Given the description of an element on the screen output the (x, y) to click on. 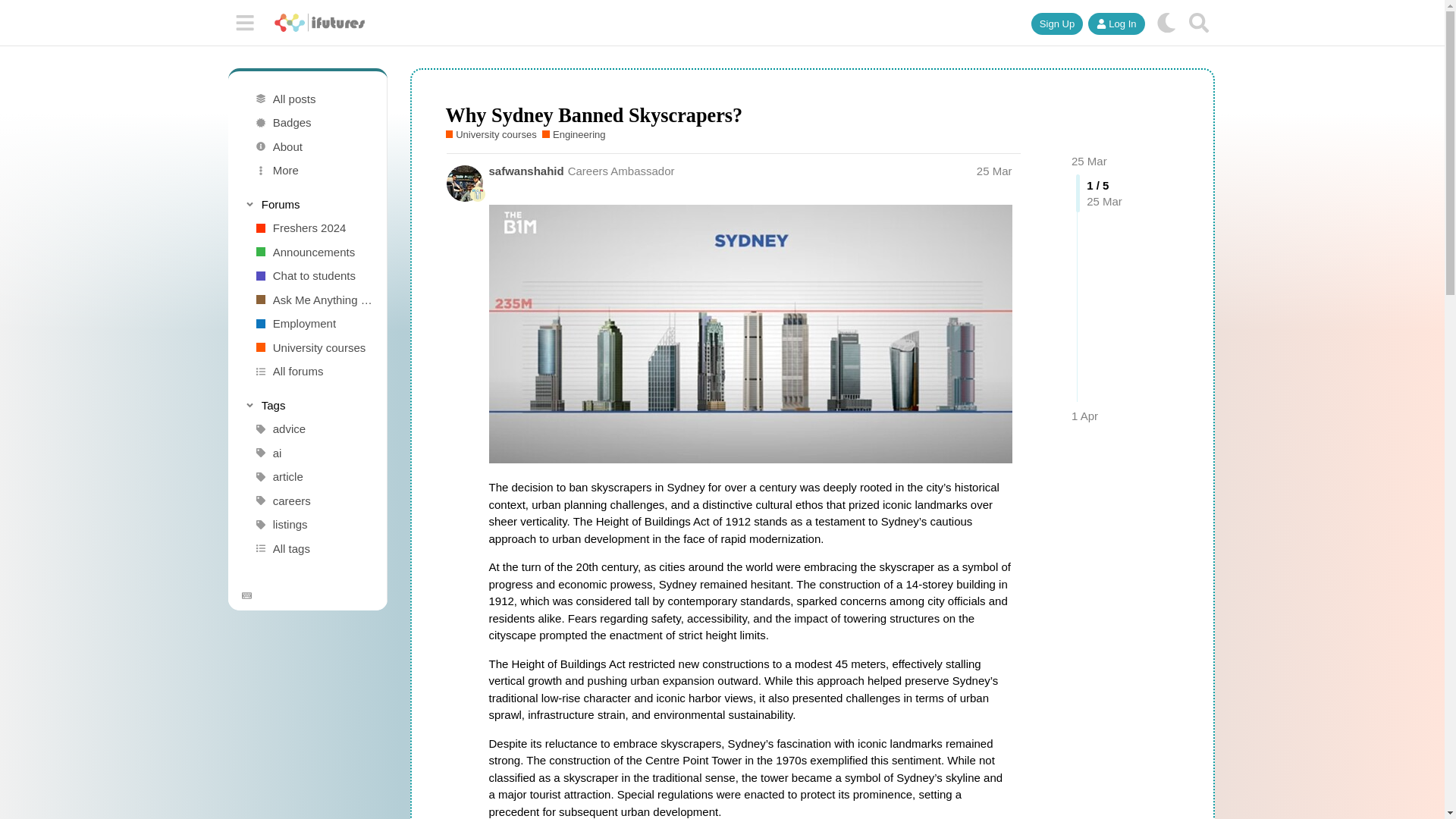
This is your guide to Freshers 2024! (313, 228)
careers (313, 500)
safwanshahid (525, 170)
Search (1198, 22)
Freshers 2024 (313, 228)
article (313, 476)
More (313, 170)
listings (313, 524)
Log In (1115, 24)
University courses (313, 346)
Welcome to the Inferential Futures Student Community! (313, 251)
Tags (306, 404)
Toggle color scheme (1166, 22)
Sign Up (1056, 24)
